Given the description of an element on the screen output the (x, y) to click on. 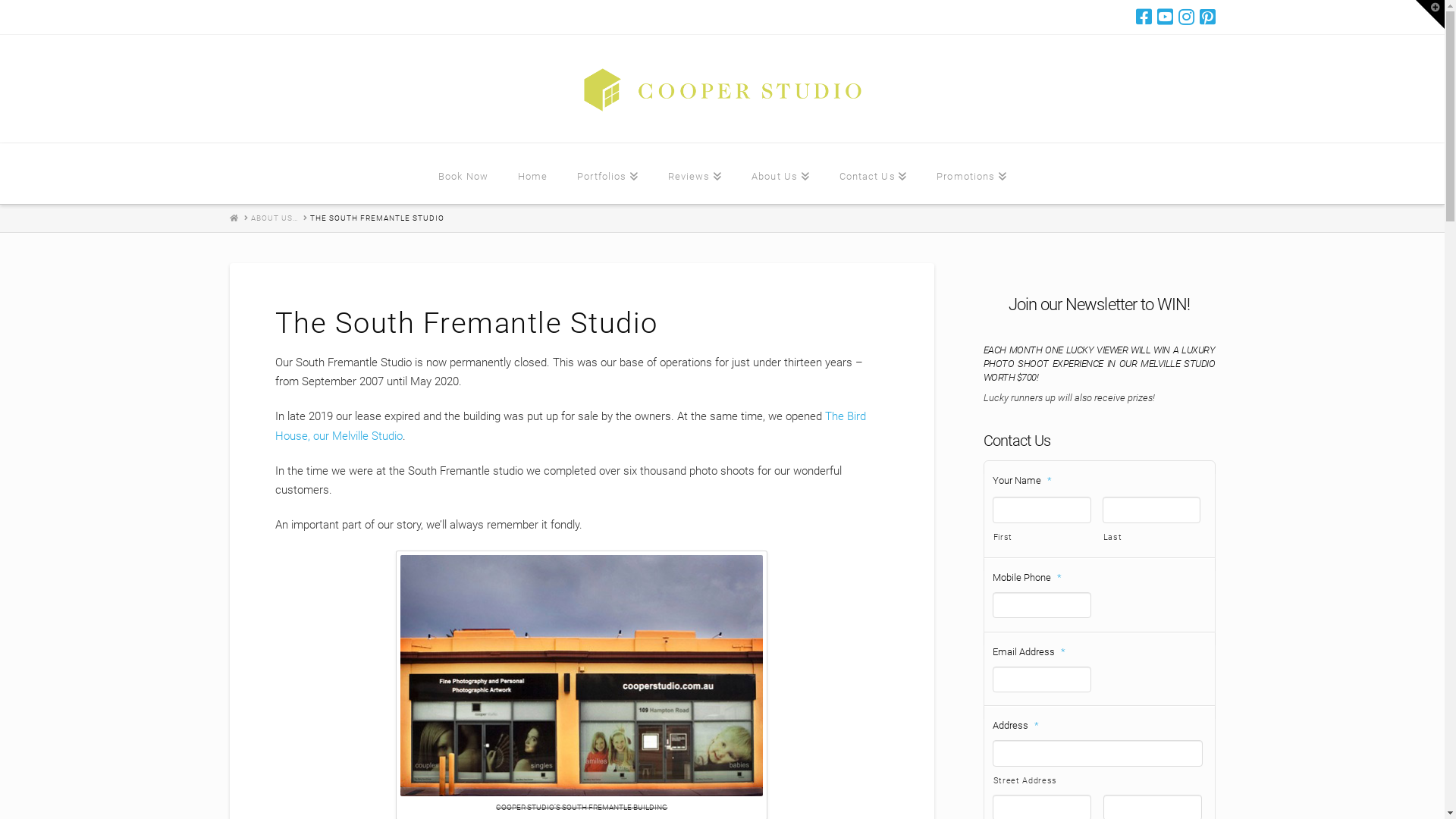
Pinterest Element type: hover (1207, 16)
THE SOUTH FREMANTLE STUDIO Element type: text (376, 218)
Instagram Element type: hover (1186, 16)
perth-photography-studio Element type: hover (581, 676)
Toggle the Widgetbar Element type: text (1429, 14)
Facebook Element type: hover (1143, 16)
Home Element type: text (531, 173)
Promotions Element type: text (971, 173)
Contact Us Element type: text (873, 173)
Book Now Element type: text (462, 173)
Portfolios Element type: text (606, 173)
About Us Element type: text (779, 173)
Reviews Element type: text (694, 173)
HOME Element type: text (233, 217)
YouTube Element type: hover (1165, 16)
The Bird House, our Melville Studio Element type: text (569, 425)
